Given the description of an element on the screen output the (x, y) to click on. 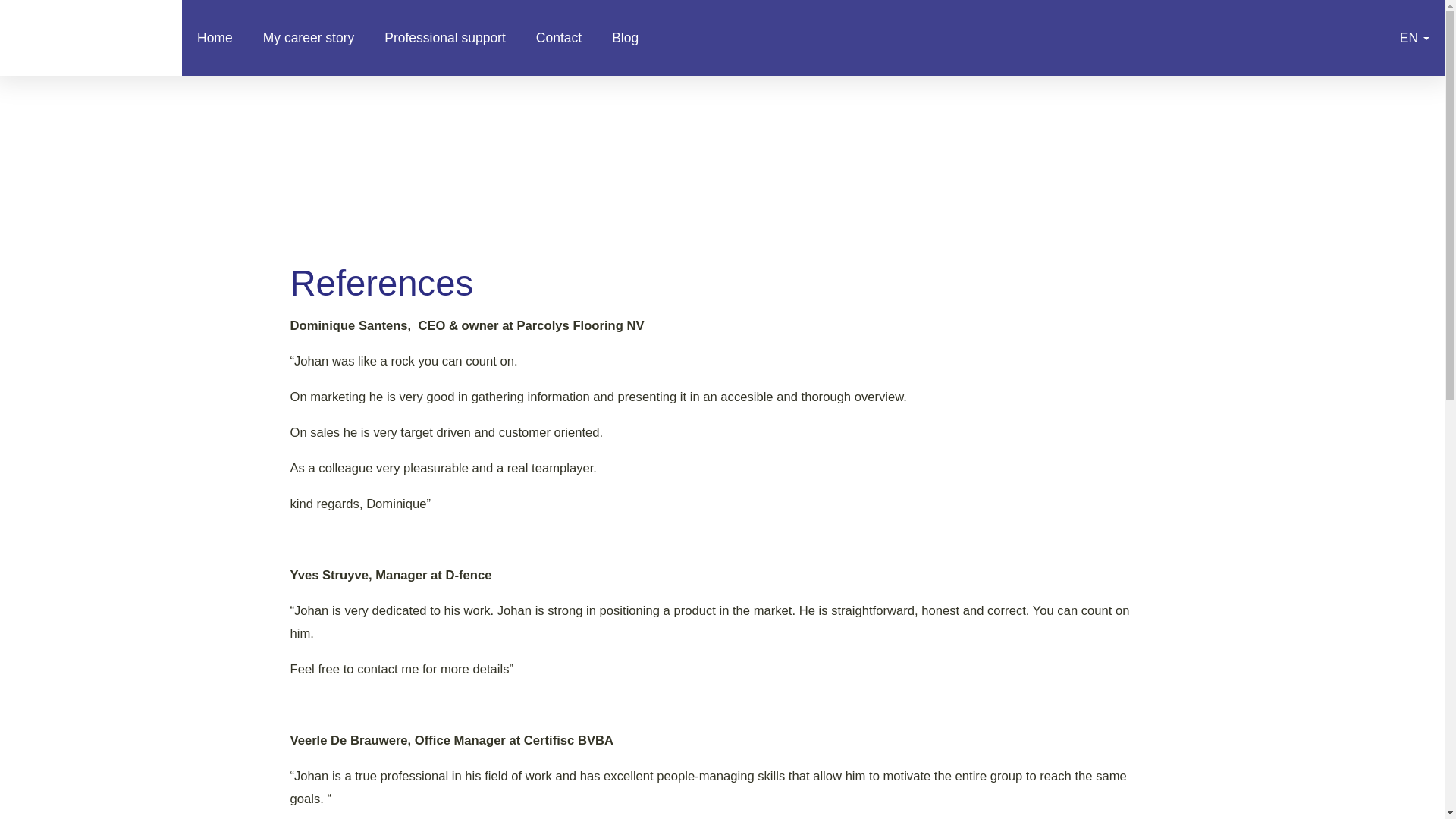
ebucon (316, 134)
References (91, 38)
My career story (308, 38)
Professional support (445, 38)
Contact (558, 38)
